Given the description of an element on the screen output the (x, y) to click on. 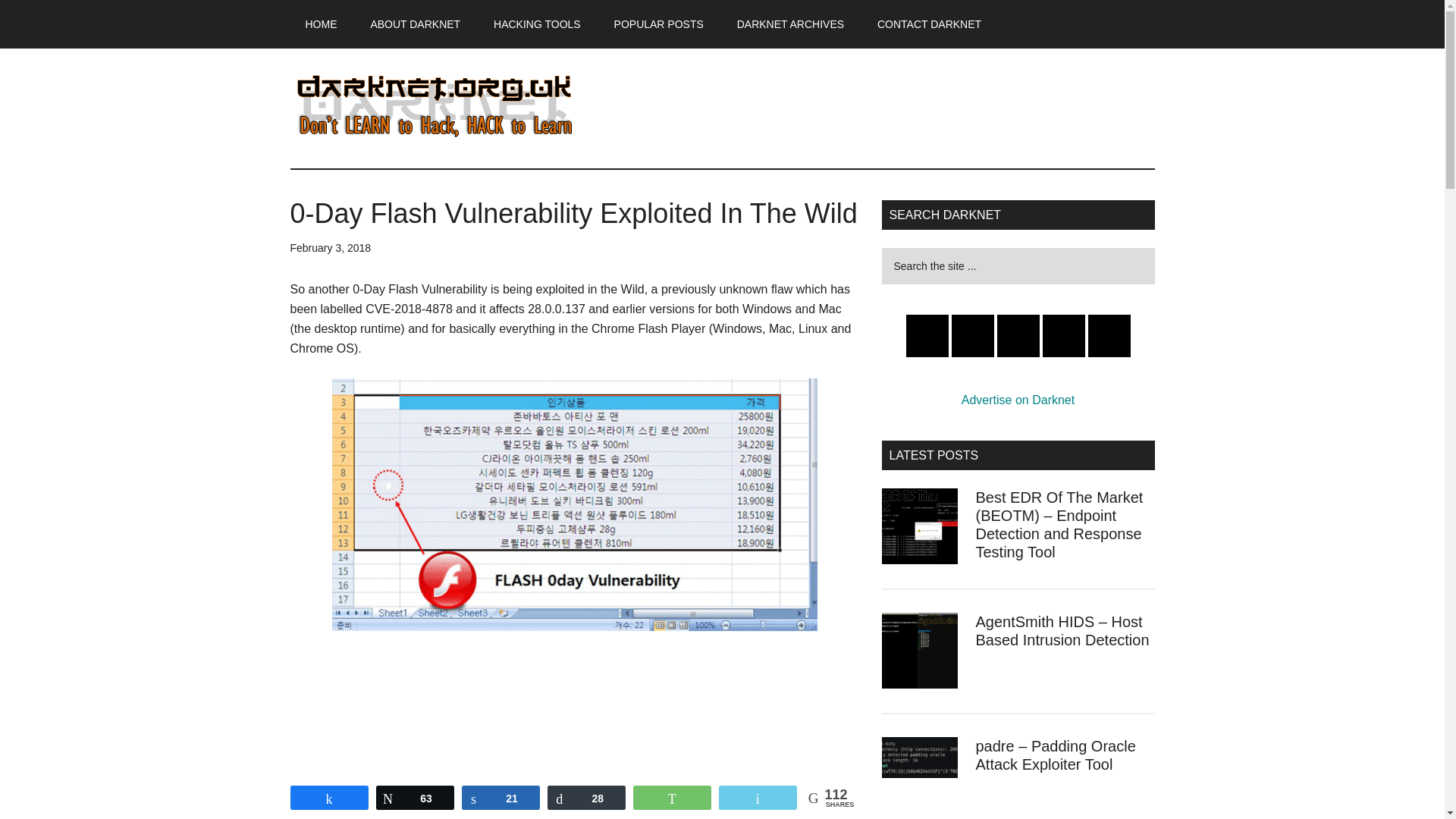
POPULAR POSTS (658, 24)
HACKING TOOLS (537, 24)
HOME (320, 24)
CONTACT DARKNET (928, 24)
ABOUT DARKNET (415, 24)
DARKNET ARCHIVES (790, 24)
Advertise on Darknet (1017, 399)
Advertisement (574, 735)
